Given the description of an element on the screen output the (x, y) to click on. 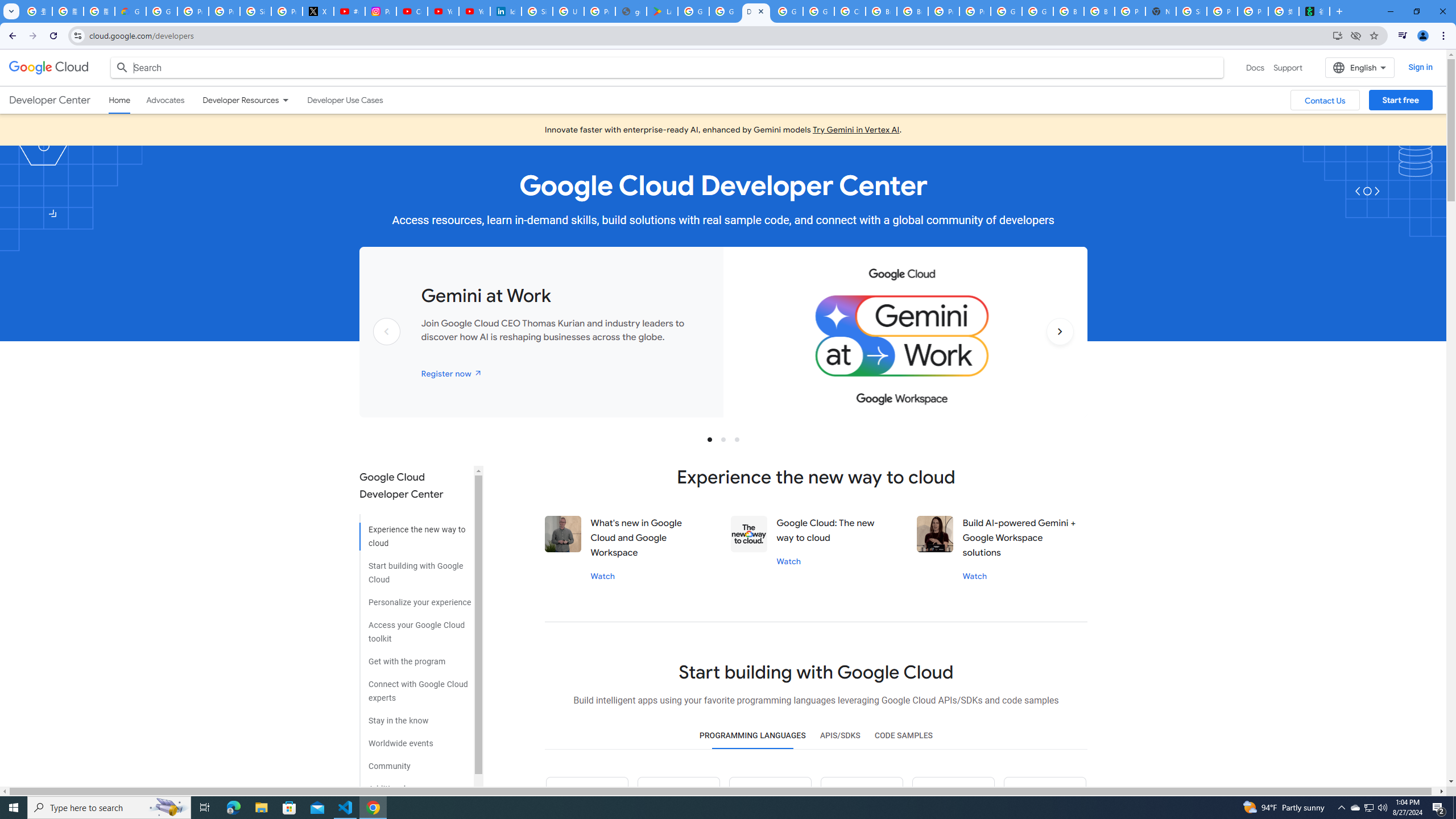
Google Cloud Privacy Notice (130, 11)
Sign in - Google Accounts (1190, 11)
X (318, 11)
APIS/SDKS (839, 735)
English (1359, 67)
Google Cloud (48, 67)
Connect with Google Cloud experts (415, 687)
YouTube Culture & Trends - YouTube Top 10, 2021 (474, 11)
Browse Chrome as a guest - Computer - Google Chrome Help (1068, 11)
Google Cloud Platform (1005, 11)
Experience the new way to cloud (415, 532)
